Given the description of an element on the screen output the (x, y) to click on. 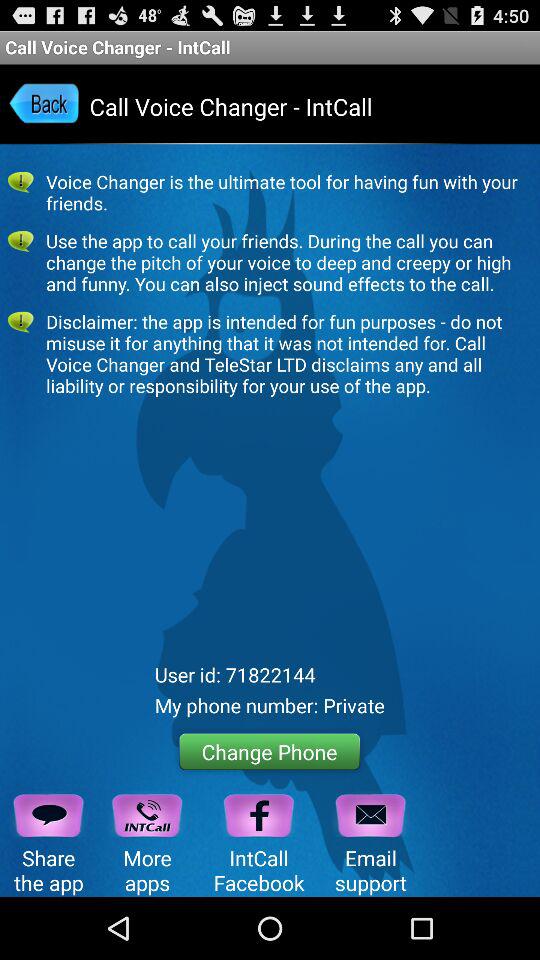
select the icon below the my phone number icon (269, 751)
